Given the description of an element on the screen output the (x, y) to click on. 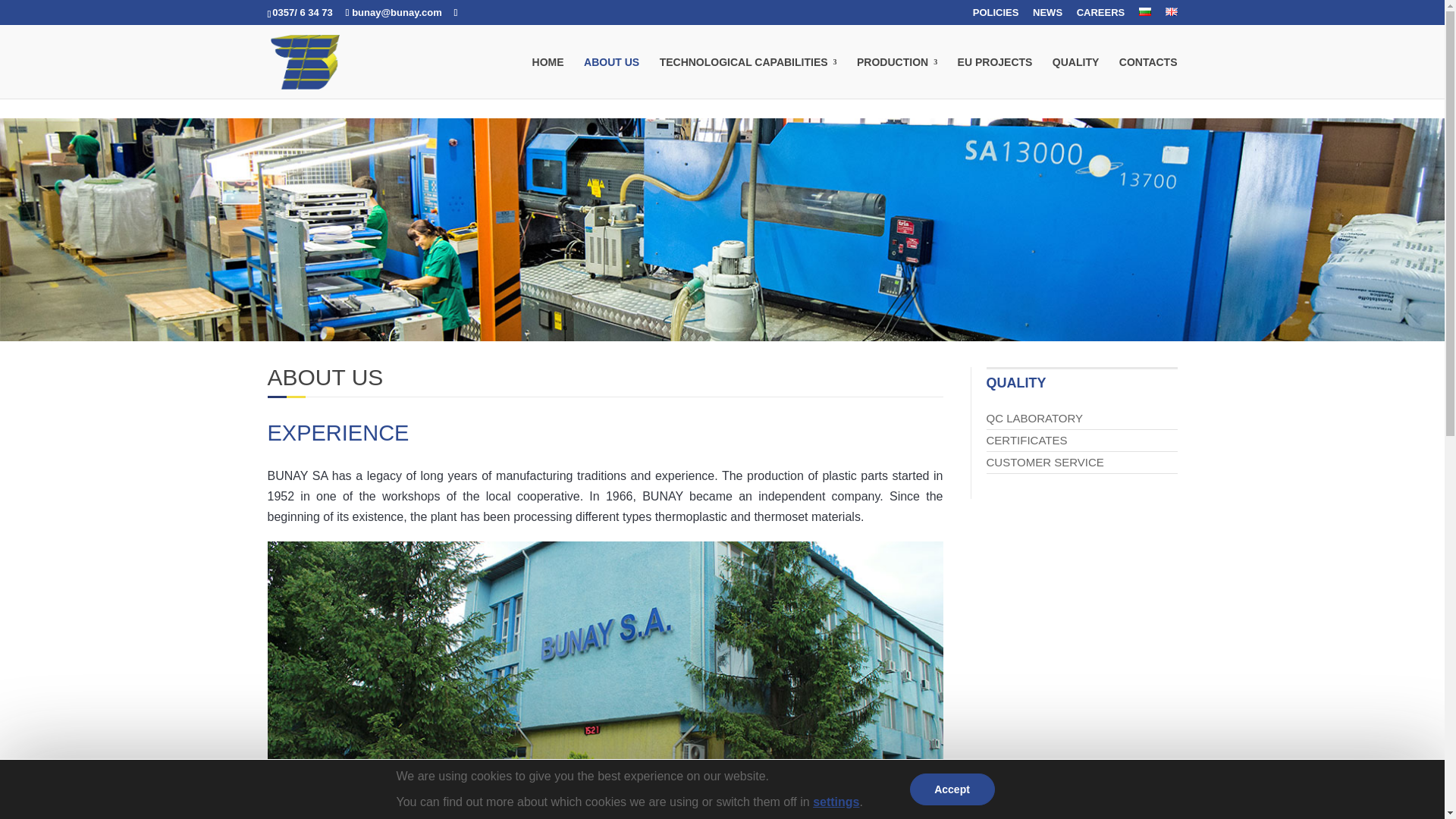
CAREERS (1101, 16)
PRODUCTION (897, 76)
EU PROJECTS (995, 76)
ABOUT US (611, 76)
QUALITY (1075, 76)
POLICIES (995, 16)
TECHNOLOGICAL CAPABILITIES (748, 76)
NEWS (1047, 16)
